Given the description of an element on the screen output the (x, y) to click on. 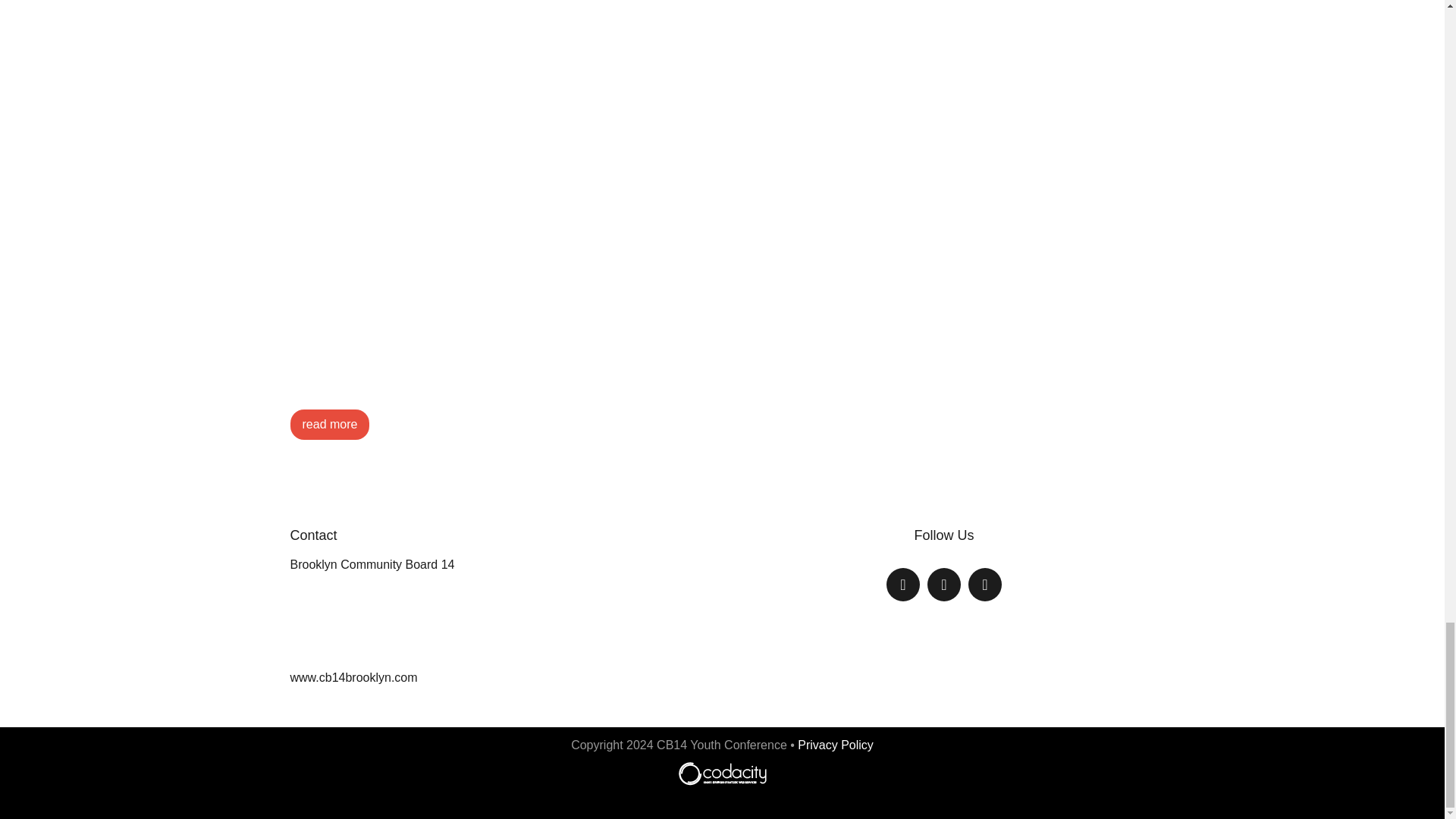
Instagram (984, 584)
read more (329, 423)
www.cb14brooklyn.com (352, 676)
Twitter (943, 584)
Brooklyn Community Board 14 (371, 563)
Privacy Policy (835, 744)
Facebook (902, 584)
